Given the description of an element on the screen output the (x, y) to click on. 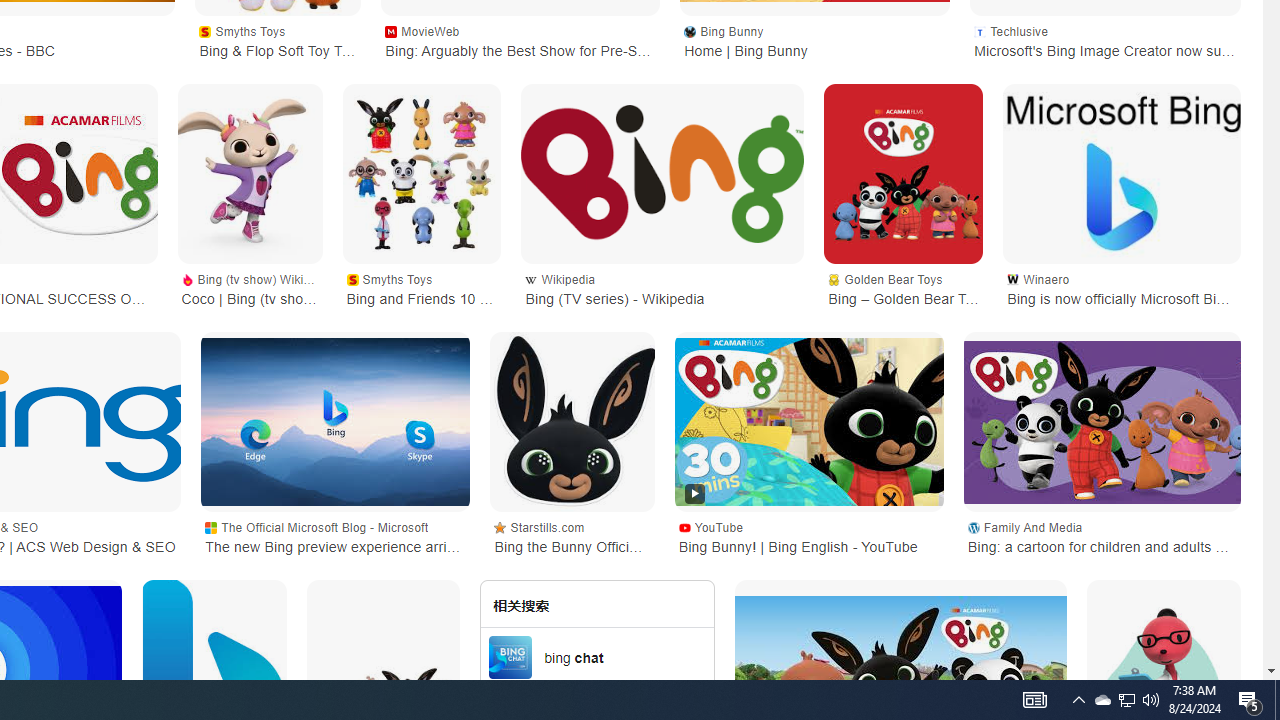
Bing the Bunny Official 2D Card Party Mask (572, 421)
Wikipedia Bing (TV series) - Wikipedia (662, 287)
